Given the description of an element on the screen output the (x, y) to click on. 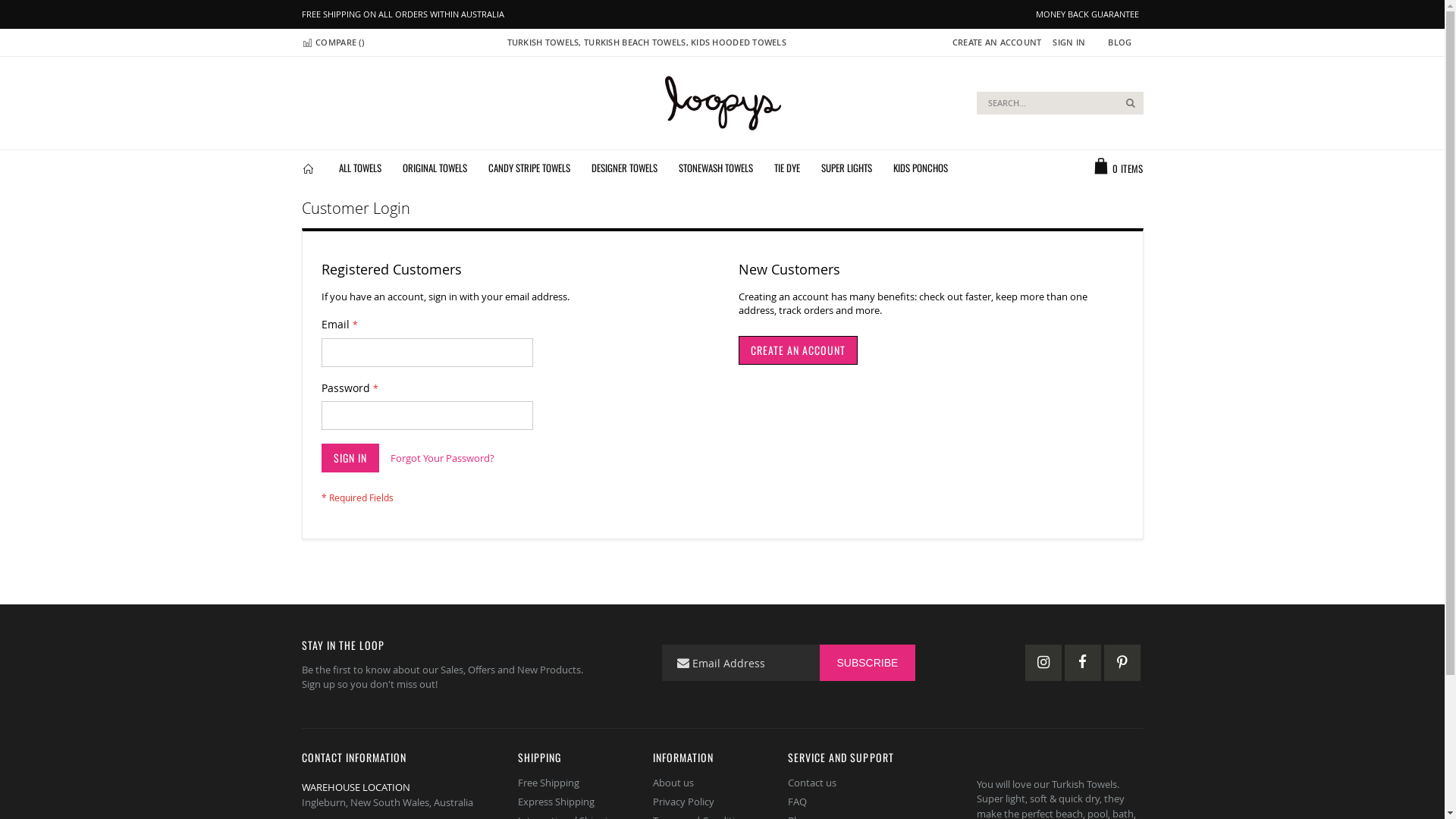
ORIGINAL TOWELS Element type: text (434, 167)
Email Element type: hover (427, 352)
Skip to Content Element type: text (300, 35)
CANDY STRIPE TOWELS Element type: text (529, 167)
BLOG Element type: text (1119, 41)
Instagram Element type: hover (1043, 662)
CREATE AN ACCOUNT Element type: text (991, 41)
SIGN IN Element type: text (1068, 41)
FAQ Element type: text (796, 801)
DESIGNER TOWELS Element type: text (624, 167)
Privacy Policy Element type: text (683, 801)
KIDS PONCHOS Element type: text (920, 167)
SUBSCRIBE Element type: text (867, 662)
loopys turkish towels Element type: hover (722, 102)
Express Shipping Element type: text (555, 801)
Facebook Element type: hover (1082, 662)
STONEWASH TOWELS Element type: text (715, 167)
Password Element type: hover (427, 415)
SUPER LIGHTS Element type: text (846, 167)
Forgot Your Password? Element type: text (441, 457)
Search Element type: text (1130, 102)
ALL TOWELS Element type: text (359, 167)
CREATE AN ACCOUNT Element type: text (797, 349)
My Cart
0 Element type: text (1125, 167)
TIE DYE Element type: text (787, 167)
Pinterest Element type: hover (1122, 662)
SIGN IN Element type: text (350, 457)
About us Element type: text (672, 782)
COMPARE () Element type: text (332, 41)
Free Shipping Element type: text (547, 782)
Contact us Element type: text (811, 782)
